Given the description of an element on the screen output the (x, y) to click on. 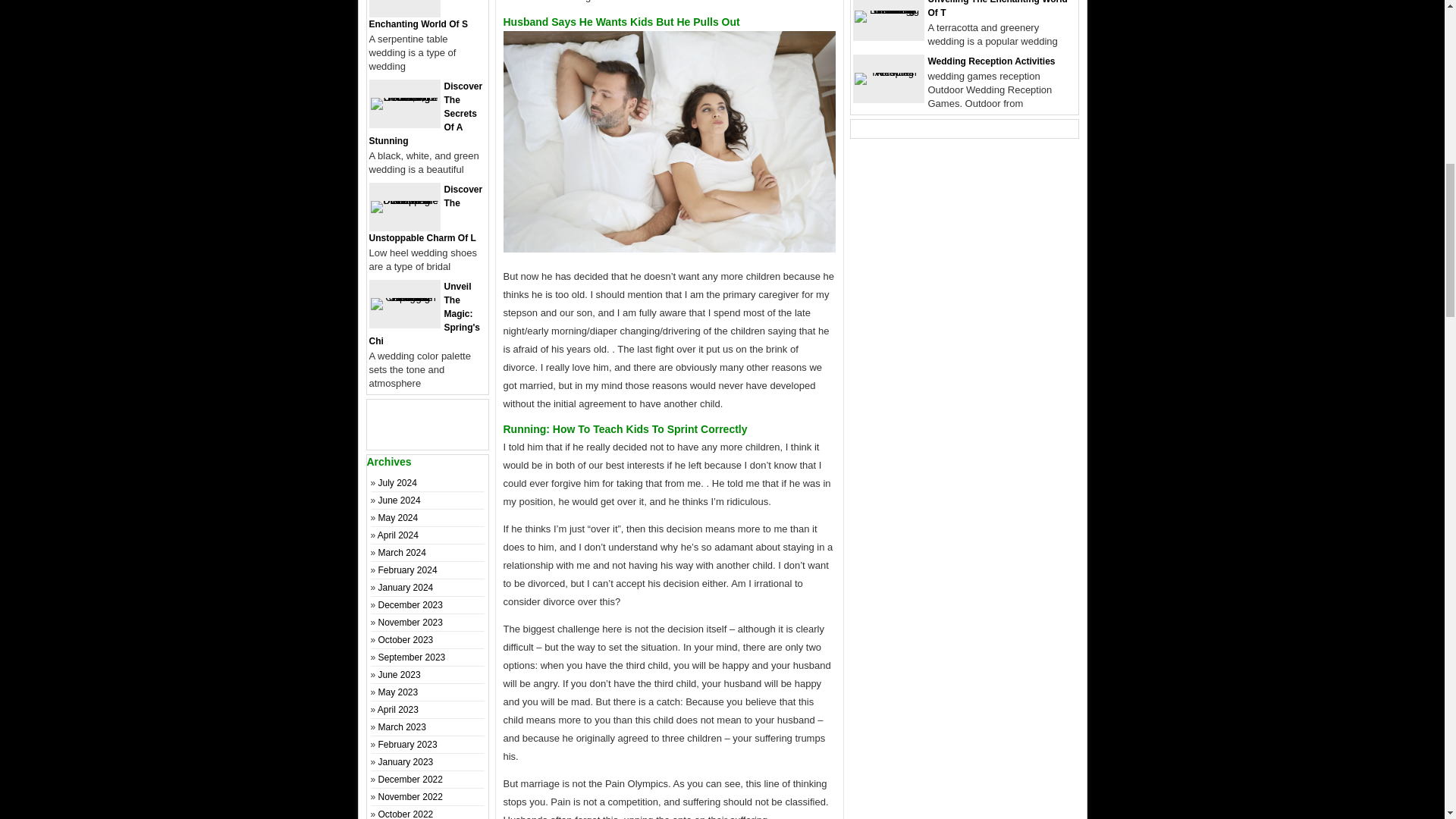
February 2023 (408, 744)
November 2023 (410, 622)
January 2023 (405, 761)
January 2024 (405, 587)
March 2024 (402, 552)
Husband Says He Wants Kids But He Pulls Out (669, 141)
Unveiling The Enchanting World Of S (426, 14)
February 2024 (408, 570)
July 2024 (397, 482)
October 2023 (405, 639)
September 2023 (411, 656)
May 2024 (398, 517)
December 2023 (410, 604)
June 2024 (399, 500)
December 2022 (410, 778)
